Given the description of an element on the screen output the (x, y) to click on. 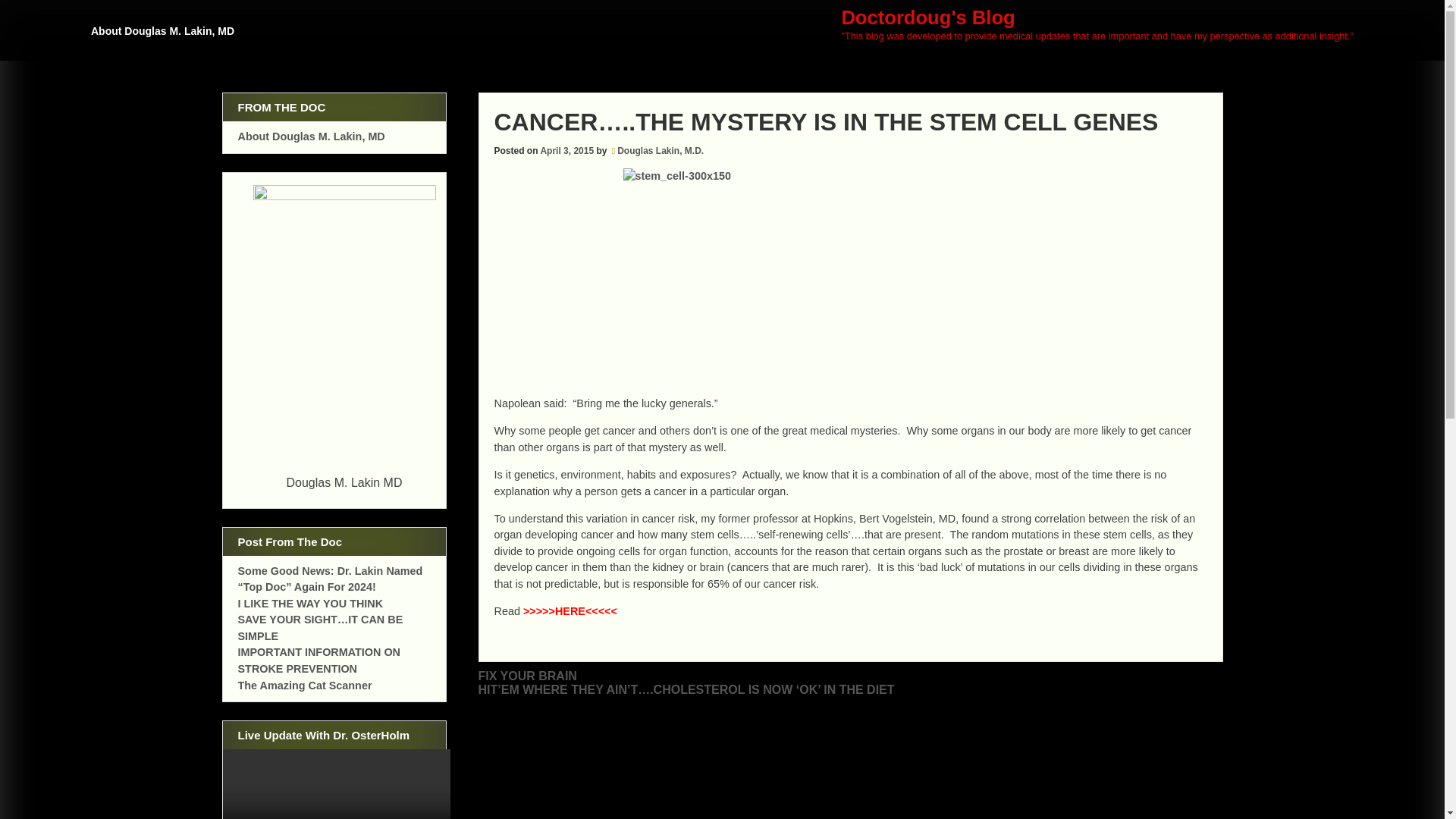
Doctordoug's Blog (927, 16)
Douglas Lakin, M.D. (660, 150)
About Douglas M. Lakin, MD (165, 37)
CANCER RISK...VOGELSTEIN (569, 611)
FIX YOUR BRAIN (526, 675)
IMPORTANT INFORMATION ON STROKE PREVENTION (319, 660)
About Douglas M. Lakin, MD (311, 136)
I LIKE THE WAY YOU THINK (311, 603)
The Amazing Cat Scanner (305, 685)
April 3, 2015 (567, 150)
